Given the description of an element on the screen output the (x, y) to click on. 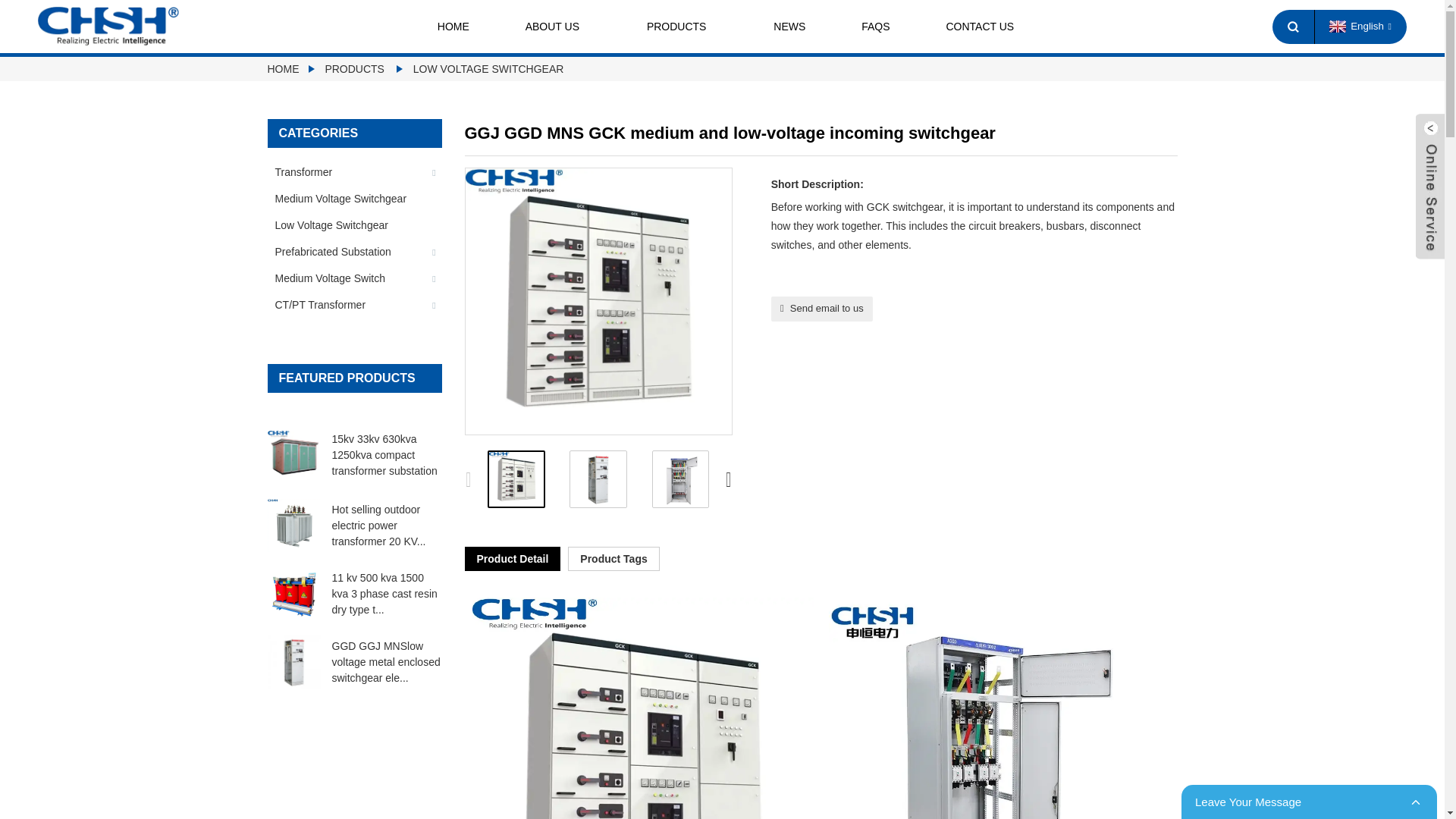
CONTACT US (979, 26)
NEWS (789, 26)
PRODUCTS (682, 26)
HOME (453, 26)
ABOUT US (558, 26)
FAQS (874, 26)
English (1357, 26)
